Given the description of an element on the screen output the (x, y) to click on. 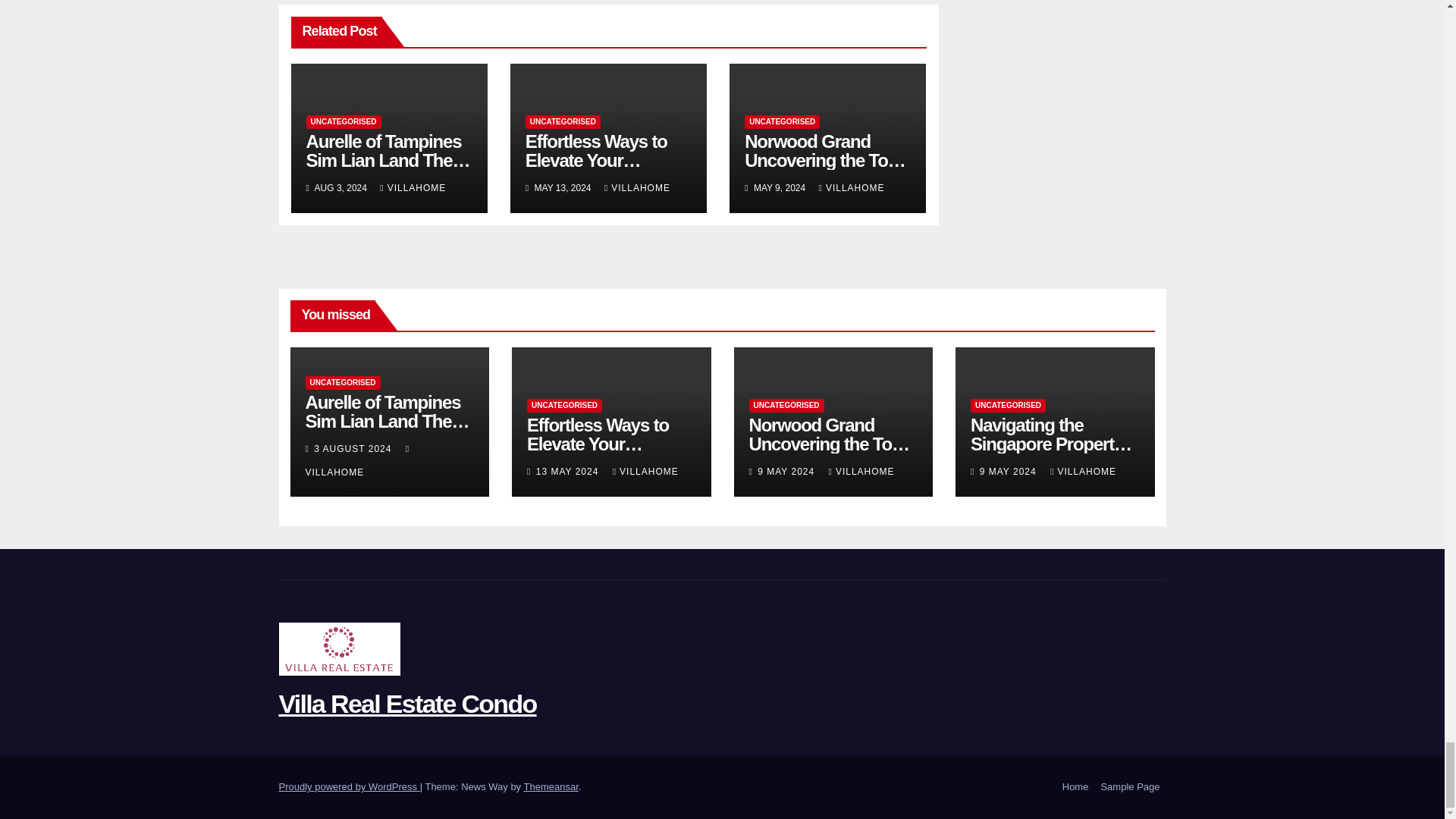
VILLAHOME (636, 187)
UNCATEGORISED (343, 121)
Home (1075, 786)
UNCATEGORISED (562, 121)
